Given the description of an element on the screen output the (x, y) to click on. 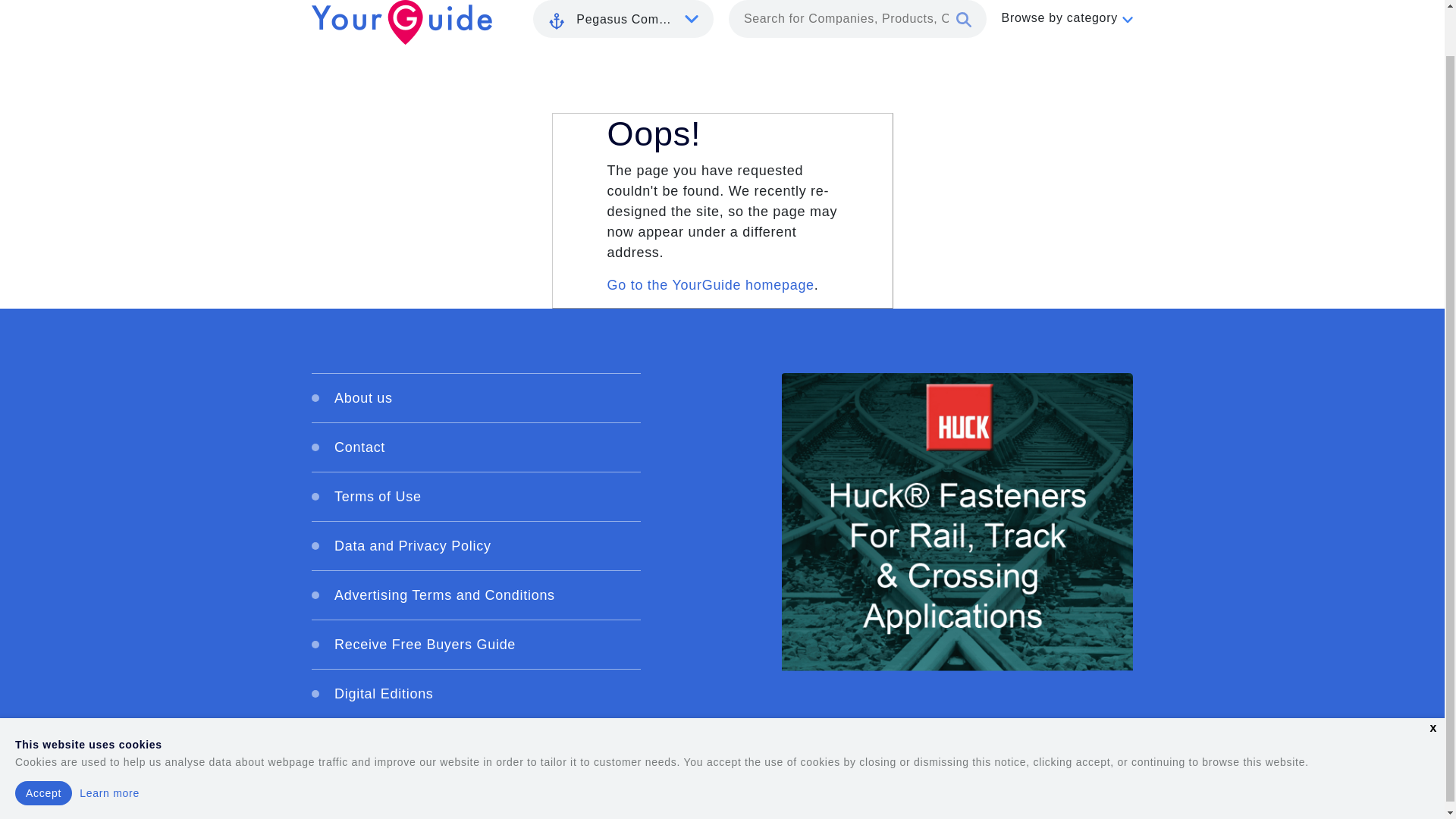
Browse by category (1066, 18)
Contact (475, 446)
Terms of Use (475, 495)
Accept (42, 743)
Go to the YourGuide homepage (710, 284)
Advertising Terms and Conditions (475, 594)
Digital Editions (475, 694)
About us (475, 397)
Learn more (109, 743)
Receive Free Buyers Guide (475, 644)
